Given the description of an element on the screen output the (x, y) to click on. 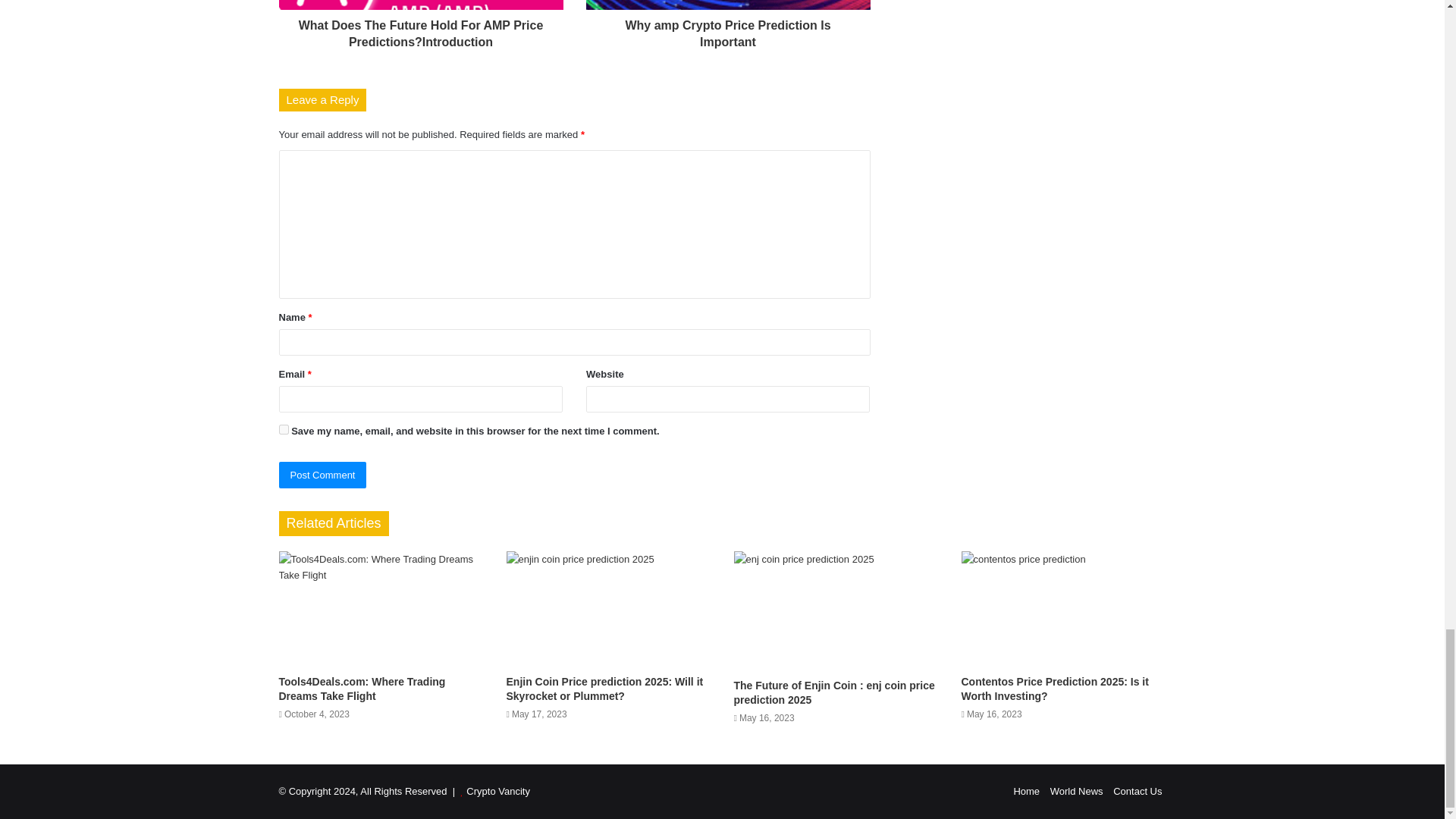
Post Comment (322, 474)
yes (283, 429)
